Given the description of an element on the screen output the (x, y) to click on. 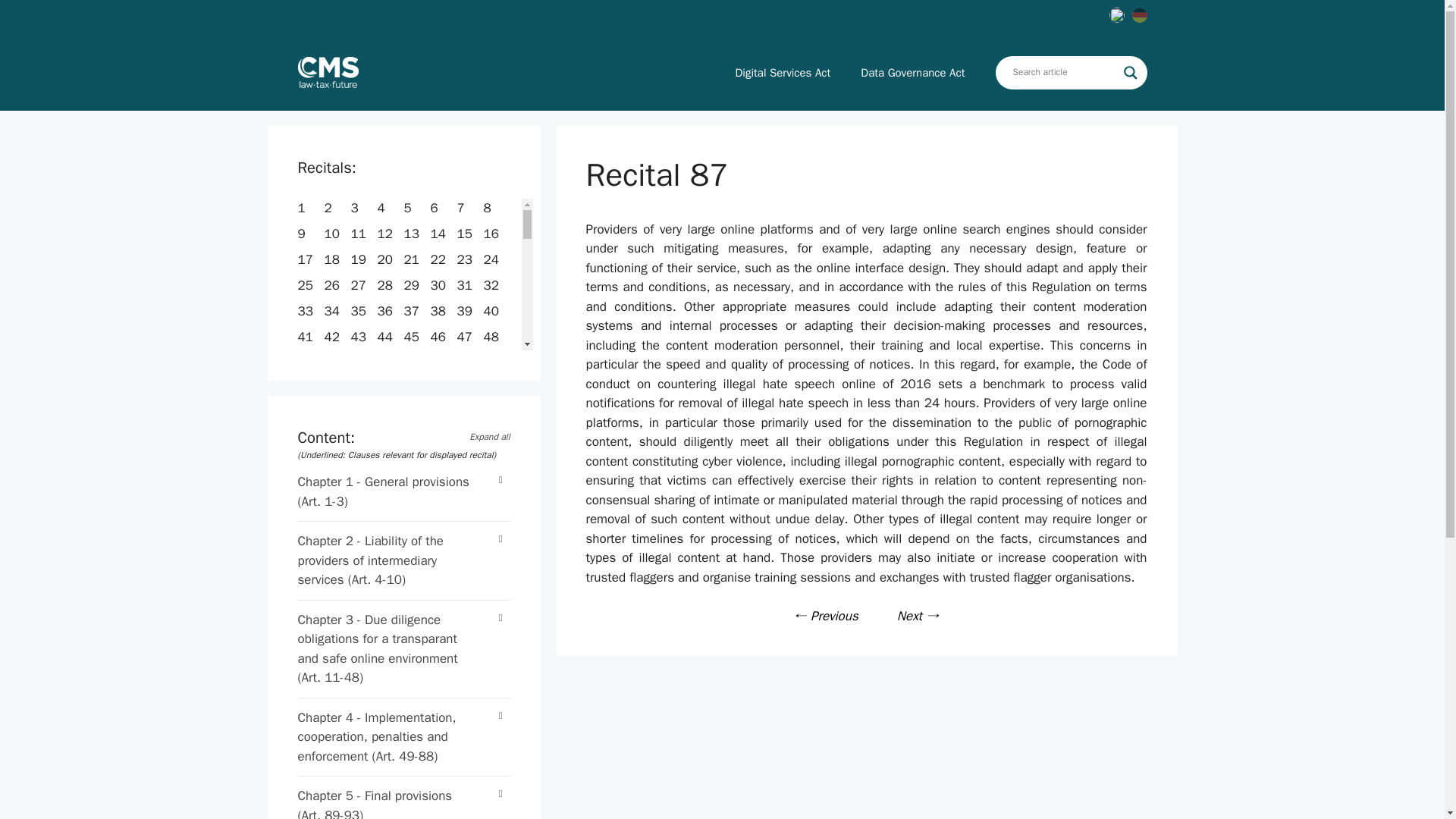
Recital 88 (917, 616)
22  (439, 259)
18  (333, 259)
Data Governance Act (912, 72)
13  (412, 233)
6  (436, 207)
27  (359, 285)
24  (492, 259)
20  (386, 259)
10  (333, 233)
23  (466, 259)
2  (330, 207)
9  (302, 233)
Recital 86 (826, 616)
21  (412, 259)
